Given the description of an element on the screen output the (x, y) to click on. 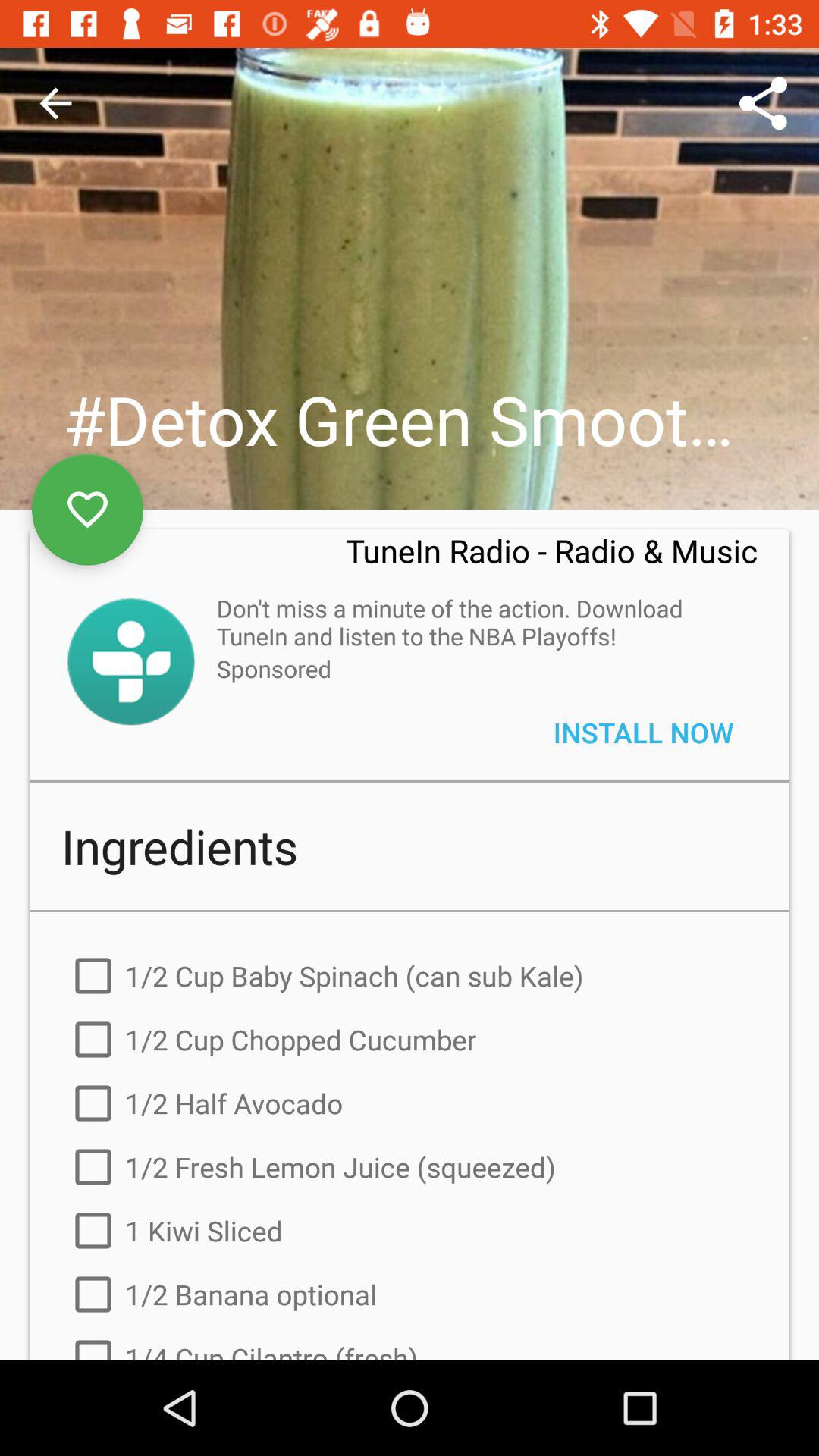
press item at the top right corner (763, 103)
